Given the description of an element on the screen output the (x, y) to click on. 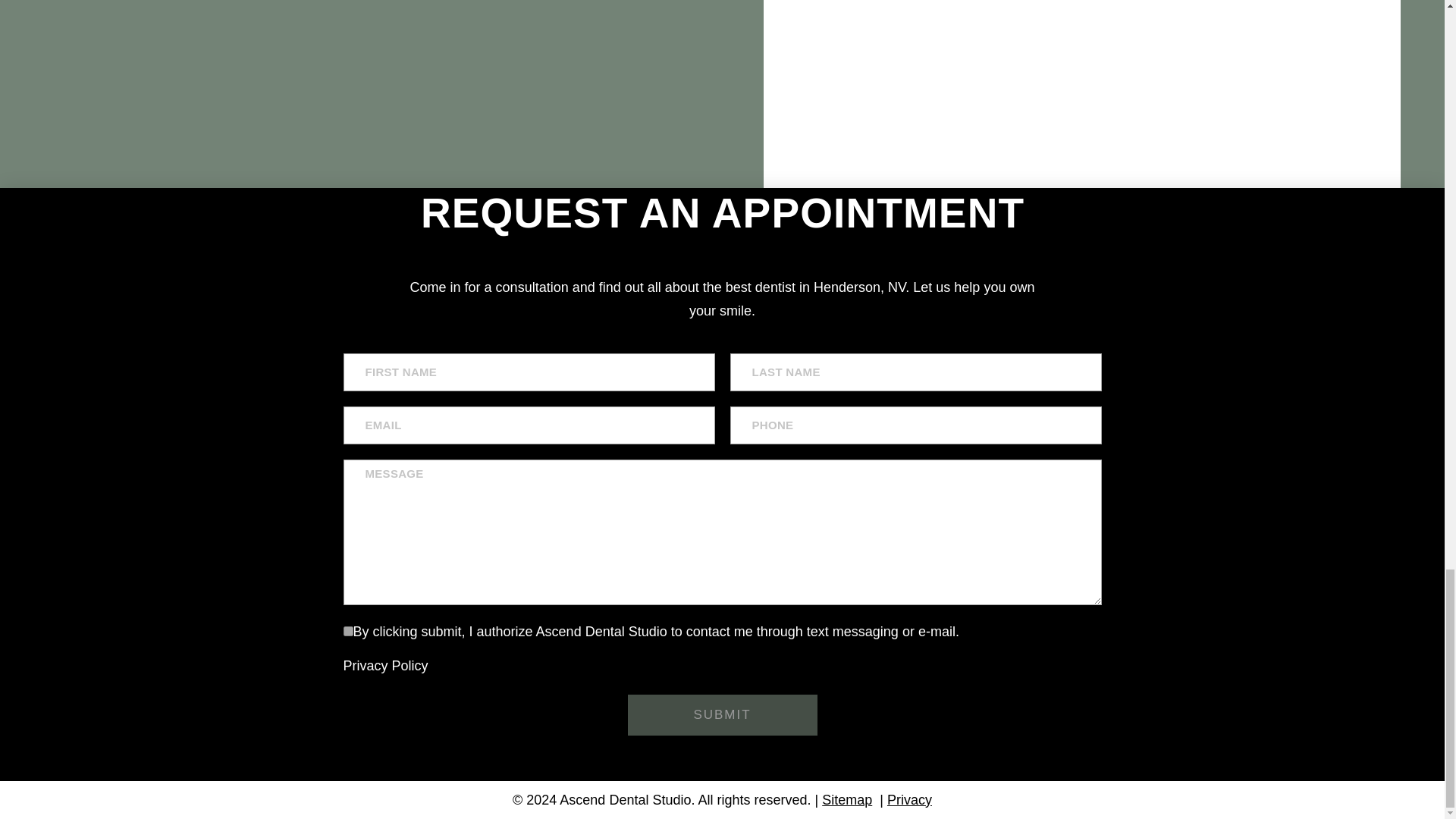
Privacy Policy (385, 665)
Submit (721, 714)
Sitemap (847, 799)
1 (347, 631)
Submit (721, 714)
Privacy (908, 799)
